Given the description of an element on the screen output the (x, y) to click on. 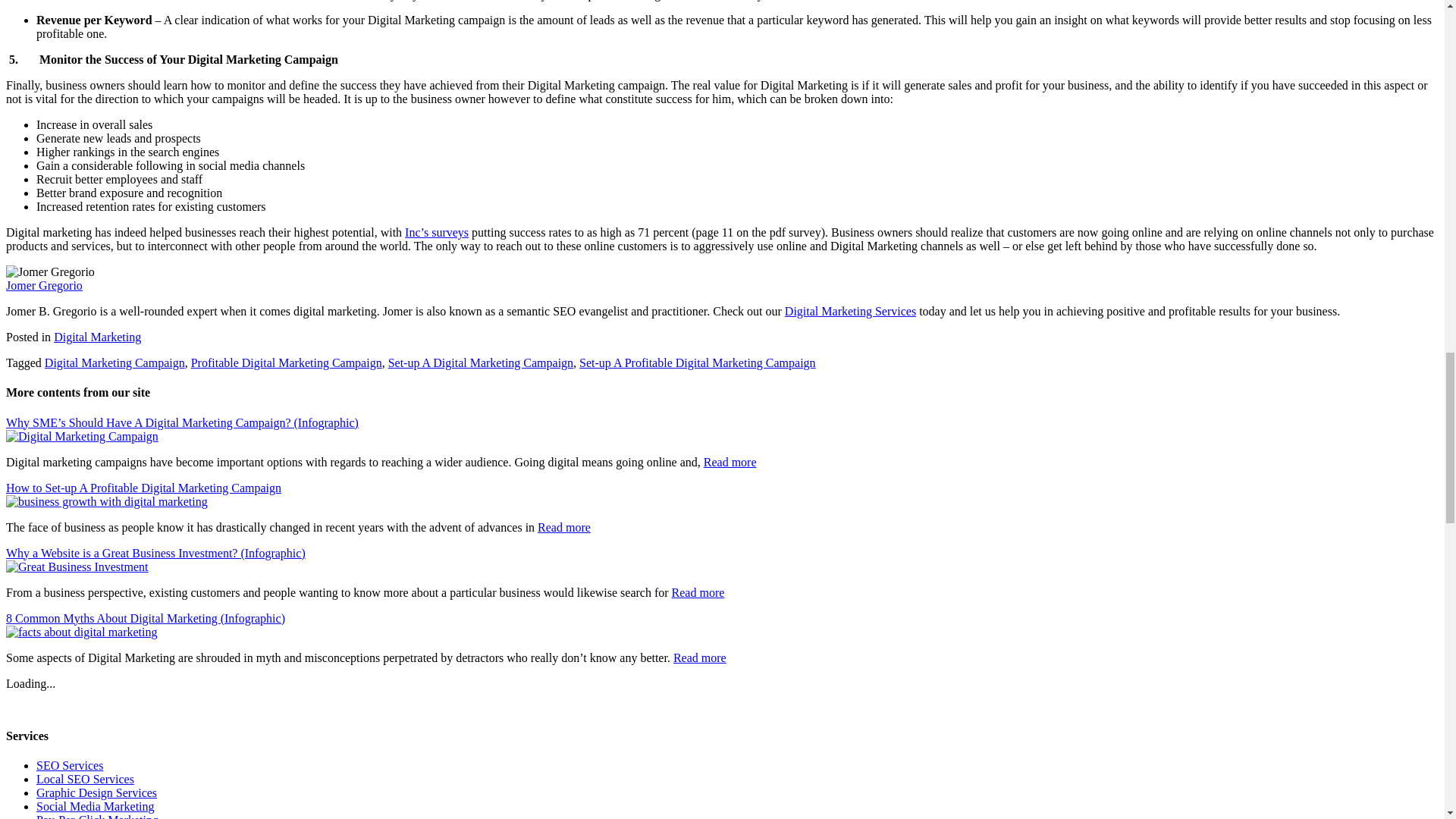
How to Set-up A Profitable Digital Marketing Campaign (106, 500)
How to Set-up A Profitable Digital Marketing Campaign (143, 486)
Digital Marketing Services (849, 310)
Digital Marketing (97, 336)
Jomer Gregorio (43, 285)
